Given the description of an element on the screen output the (x, y) to click on. 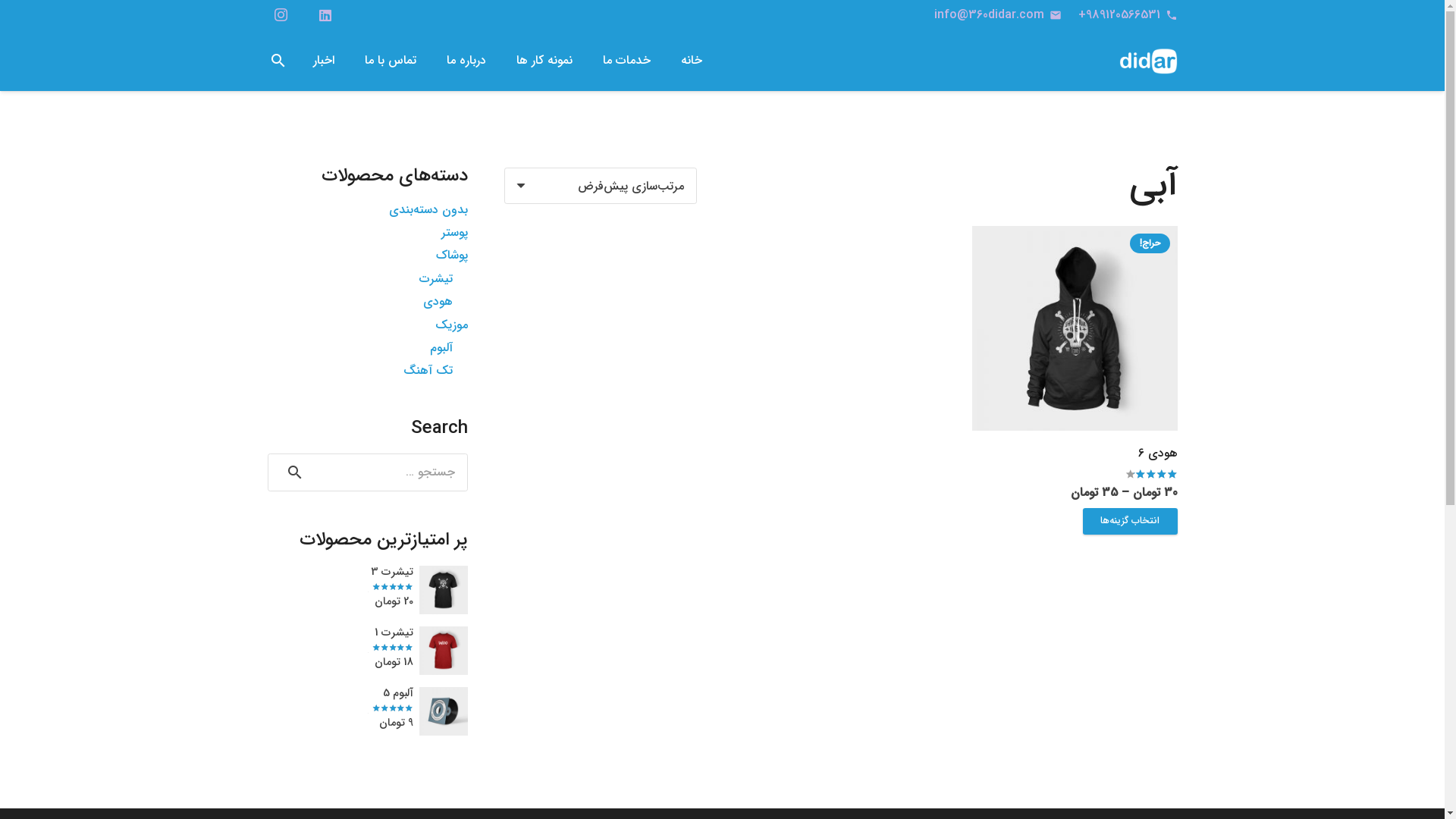
Instagram Element type: hover (280, 14)
search Element type: text (277, 60)
emailinfo@360didar.com Element type: text (997, 14)
LinkedIn Element type: hover (324, 14)
